Given the description of an element on the screen output the (x, y) to click on. 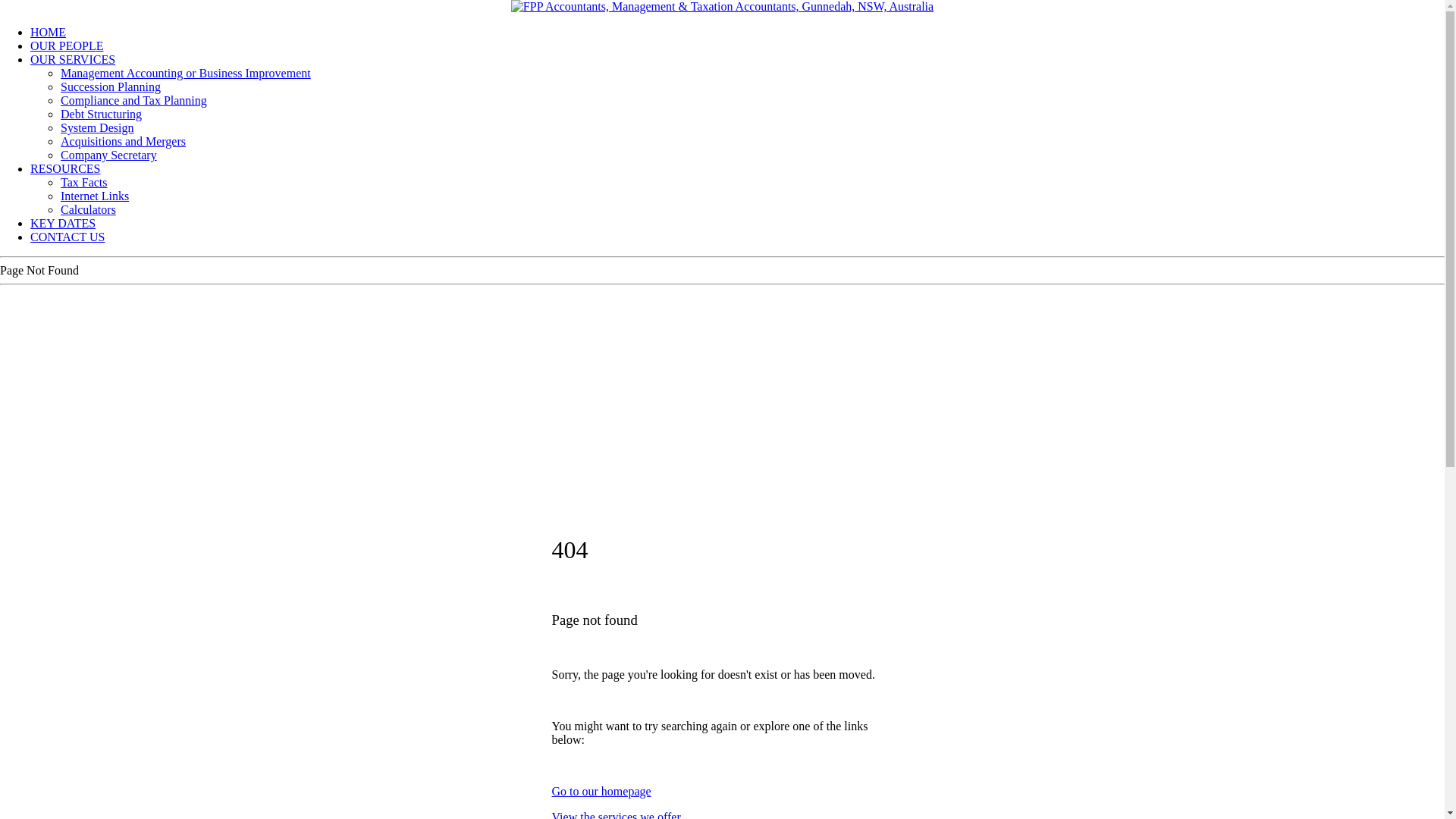
OUR SERVICES Element type: text (72, 59)
RESOURCES Element type: text (65, 168)
OUR PEOPLE Element type: text (66, 45)
CONTACT US Element type: text (67, 236)
System Design Element type: text (96, 127)
Internet Links Element type: text (94, 195)
Acquisitions and Mergers Element type: text (122, 140)
Calculators Element type: text (88, 209)
KEY DATES Element type: text (62, 222)
Company Secretary Element type: text (108, 154)
Compliance and Tax Planning Element type: text (133, 100)
Management Accounting or Business Improvement Element type: text (185, 72)
HOME Element type: text (47, 31)
Go to our homepage Element type: text (601, 790)
Debt Structuring Element type: text (100, 113)
Tax Facts Element type: text (83, 181)
Succession Planning Element type: text (110, 86)
